Given the description of an element on the screen output the (x, y) to click on. 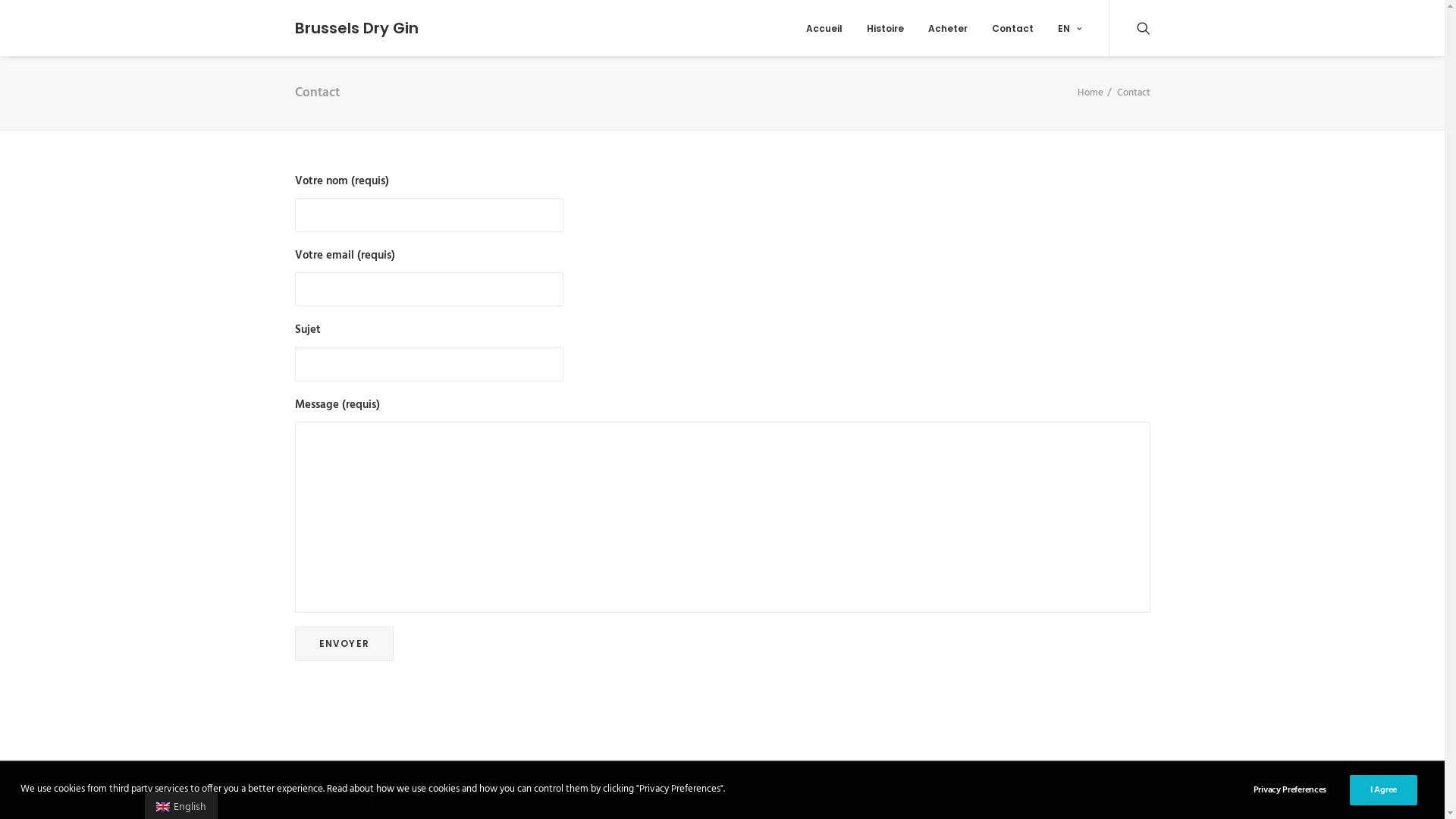
Contact Element type: text (1012, 28)
Histoire Element type: text (884, 28)
Brussels Dry Gin Element type: text (355, 27)
Envoyer Element type: text (343, 643)
Home Element type: text (1089, 92)
Privacy Preferences Element type: text (1299, 789)
Acheter Element type: text (947, 28)
EN Element type: text (1063, 28)
English Element type: hover (162, 806)
Accueil Element type: text (823, 28)
I Agree Element type: text (1383, 790)
